Given the description of an element on the screen output the (x, y) to click on. 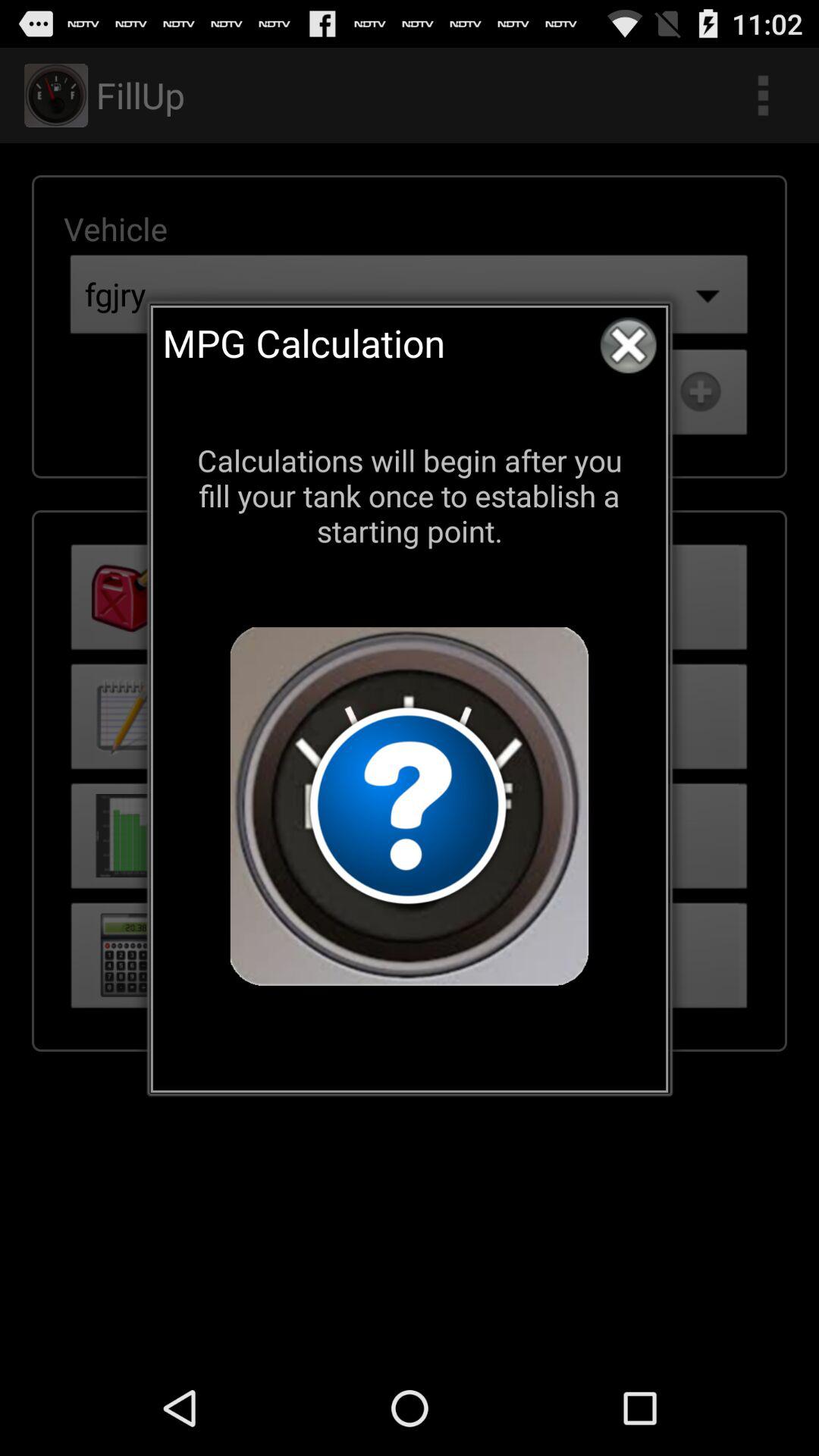
choose icon to the right of the mpg calculation icon (628, 345)
